Given the description of an element on the screen output the (x, y) to click on. 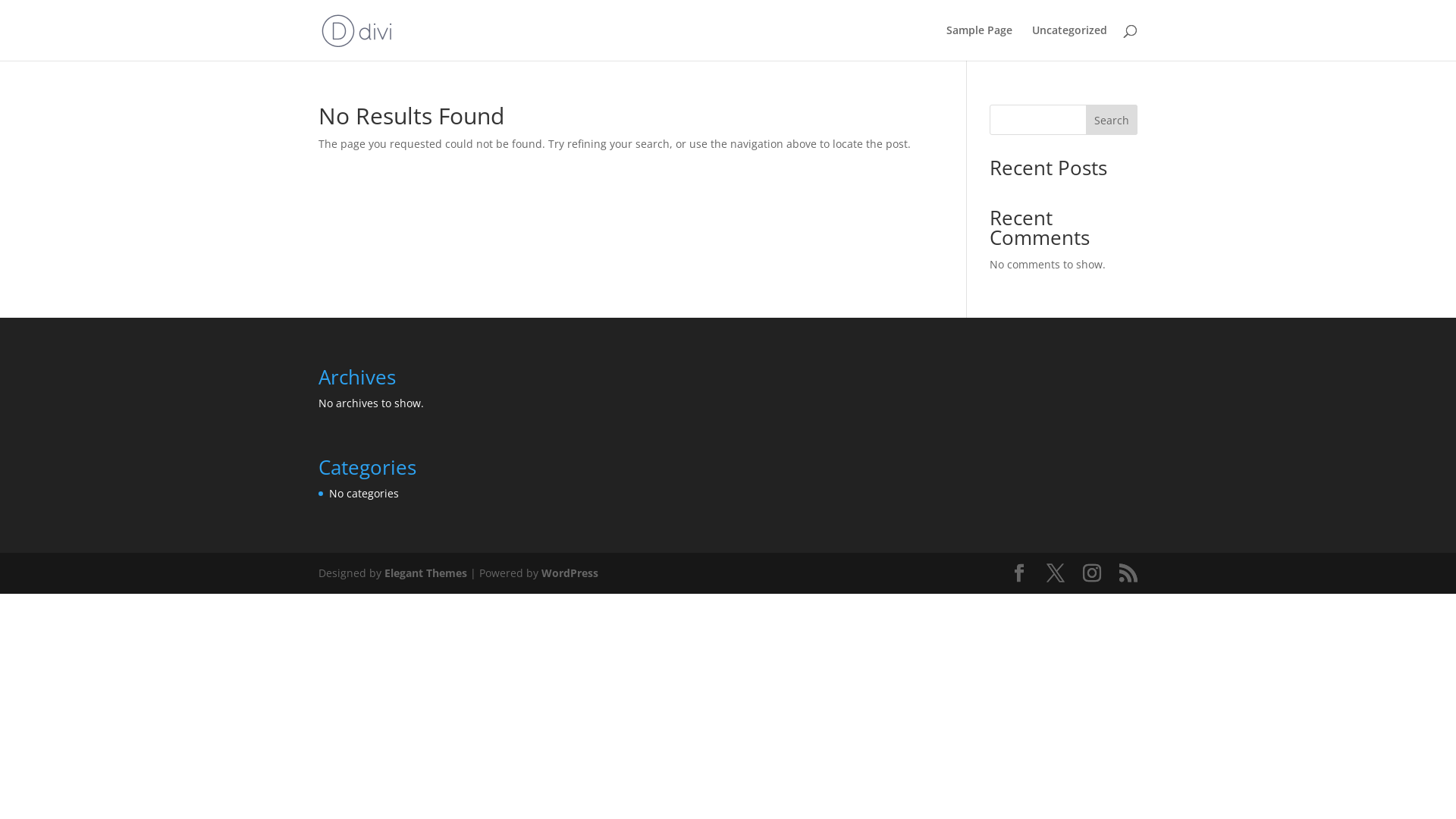
WordPress Element type: text (569, 572)
Search Element type: text (1111, 119)
Sample Page Element type: text (979, 42)
Uncategorized Element type: text (1069, 42)
Elegant Themes Element type: text (425, 572)
